Given the description of an element on the screen output the (x, y) to click on. 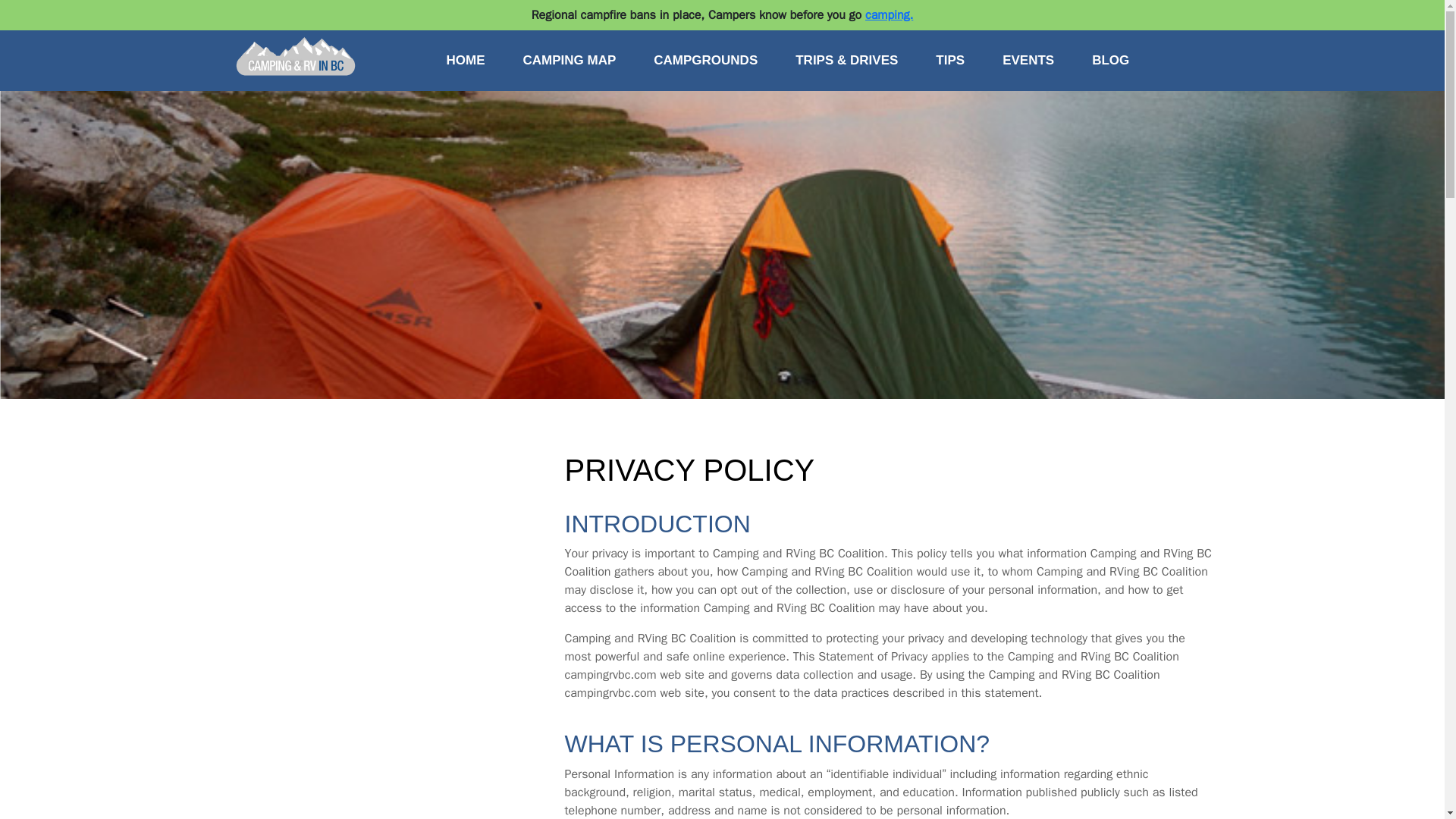
CAMPGROUNDS (705, 60)
camping. (888, 14)
BLOG (1110, 60)
TIPS (950, 60)
HOME (465, 60)
EVENTS (1028, 60)
CAMPING MAP (568, 60)
